Given the description of an element on the screen output the (x, y) to click on. 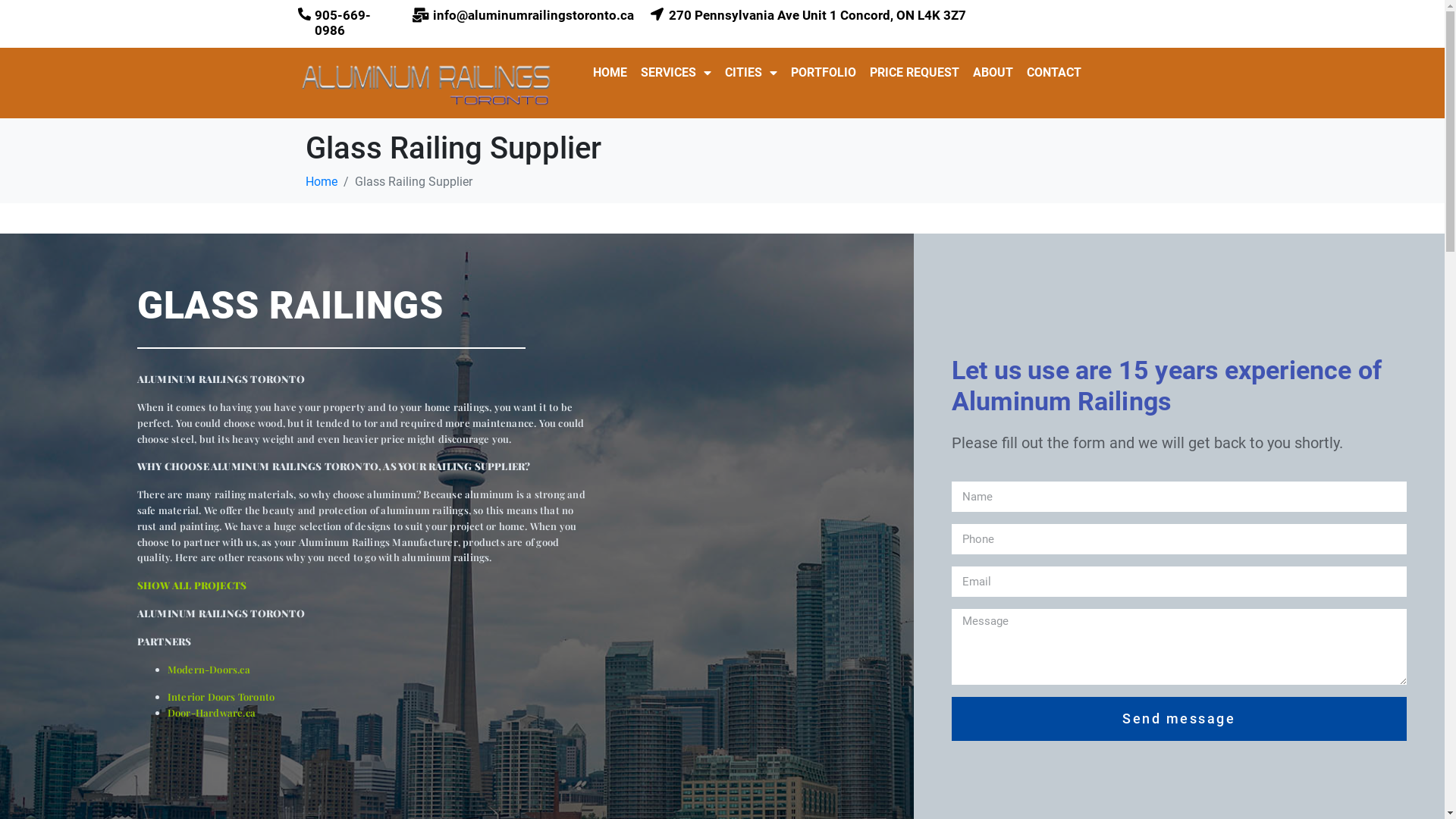
HOME Element type: text (609, 72)
Interior Doors Toronto Element type: text (220, 696)
Send message Element type: text (1178, 718)
Home Element type: text (320, 181)
Modern-Doors.ca Element type: text (208, 668)
SHOW ALL PROJECTS Element type: text (191, 584)
CONTACT Element type: text (1053, 72)
270 Pennsylvania Ave Unit 1 Concord, ON L4K 3Z7 Element type: text (817, 14)
PRICE REQUEST Element type: text (914, 72)
Door-Hardware.ca Element type: text (211, 712)
ABOUT Element type: text (992, 72)
SERVICES Element type: text (675, 72)
CITIES Element type: text (751, 72)
905-669-0986 Element type: text (341, 22)
PORTFOLIO Element type: text (823, 72)
info@aluminumrailingstoronto.ca Element type: text (533, 14)
